Given the description of an element on the screen output the (x, y) to click on. 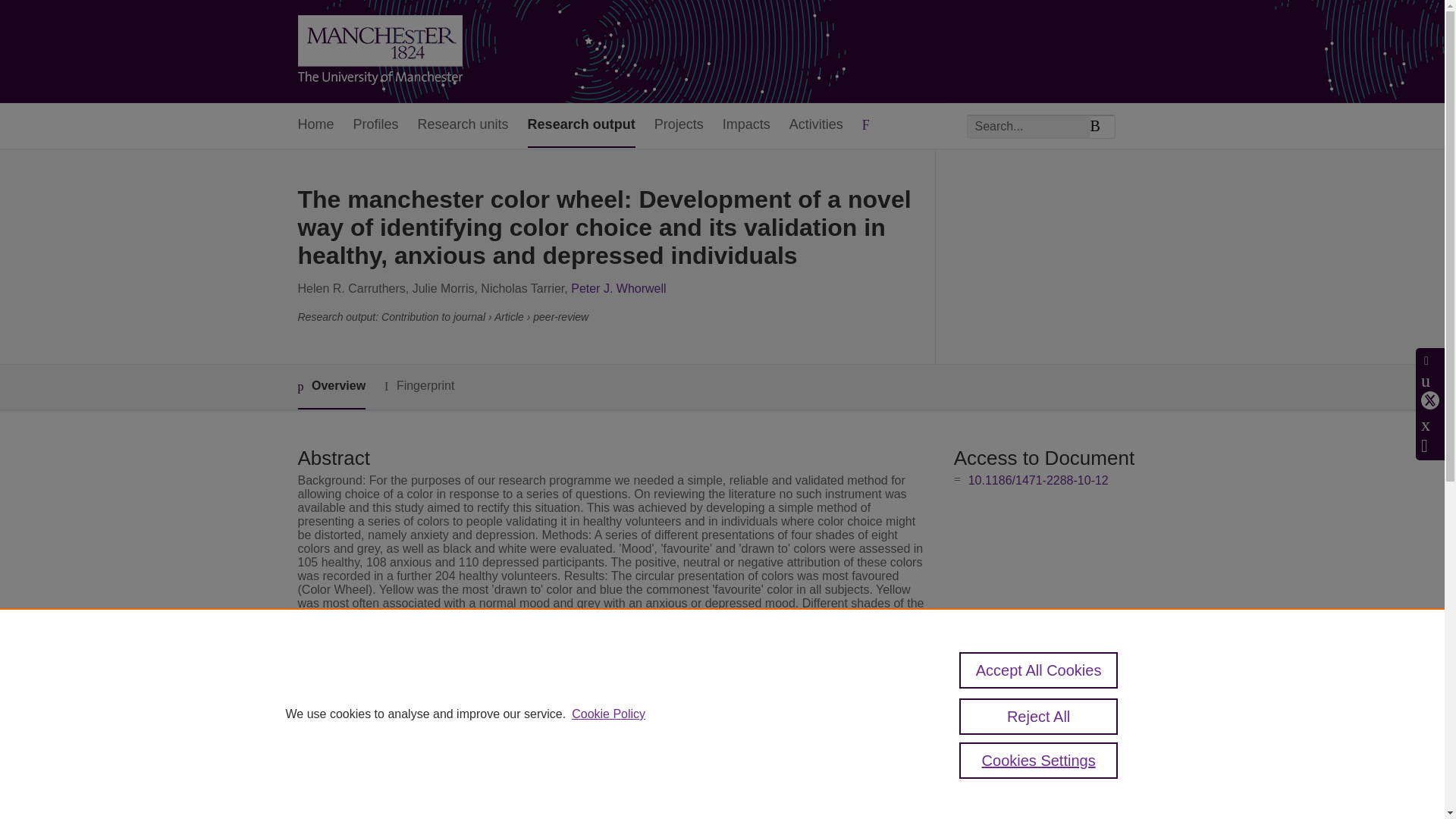
Projects (678, 125)
Fingerprint (419, 385)
Activities (816, 125)
Overview (331, 386)
Profiles (375, 125)
Impacts (746, 125)
Research output (580, 125)
Research units (462, 125)
Research Explorer The University of Manchester Home (379, 51)
Peter J. Whorwell (617, 287)
